Given the description of an element on the screen output the (x, y) to click on. 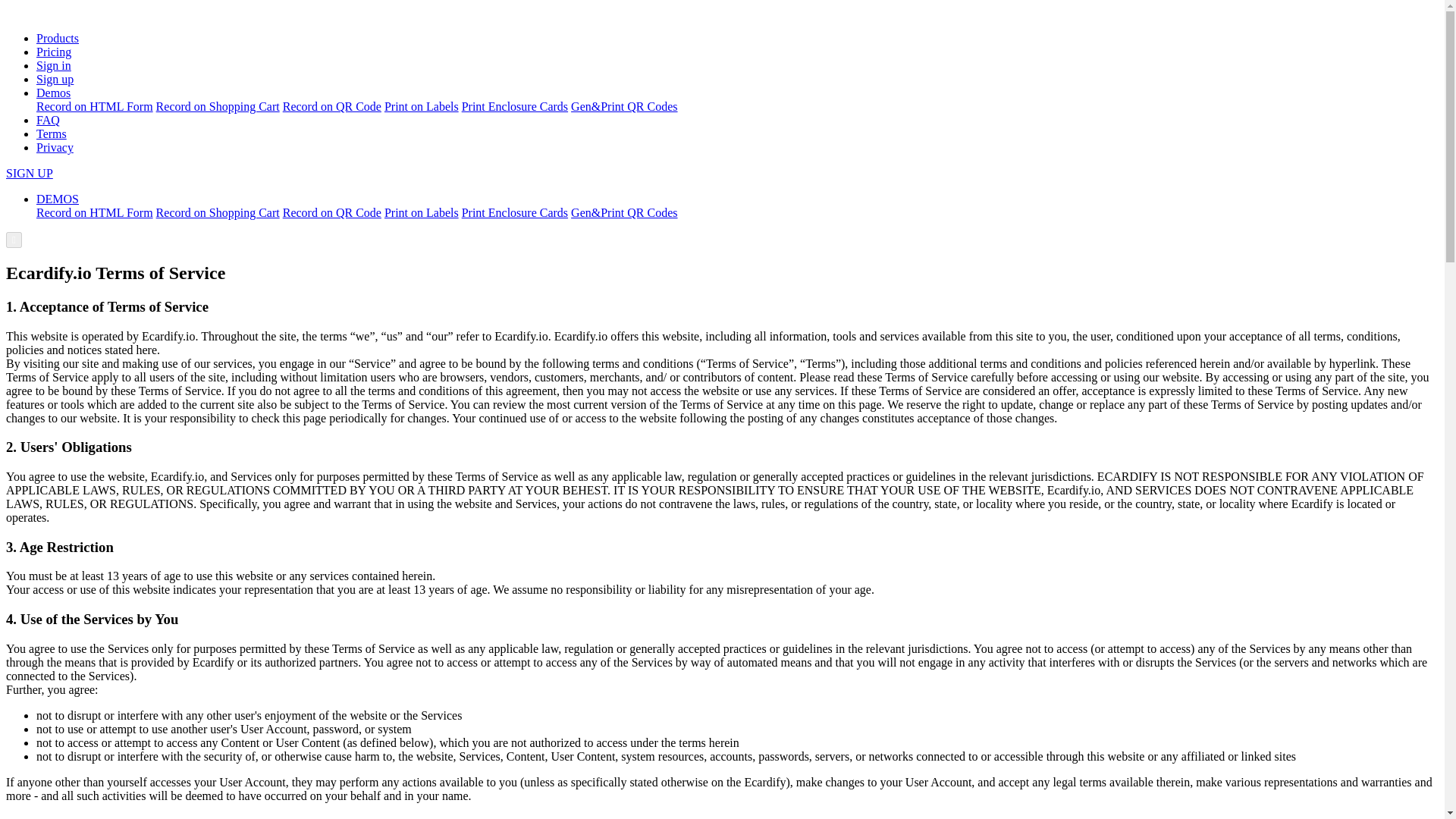
DEMOS (57, 198)
FAQ (47, 119)
Print on Labels (421, 106)
Sign up (55, 78)
Sign in (53, 65)
Record on Shopping Cart (217, 106)
Pricing (53, 51)
Record on QR Code (331, 106)
Demos (52, 92)
Print Enclosure Cards (514, 212)
Record on Shopping Cart (217, 212)
Privacy (55, 146)
Record on QR Code (331, 212)
Products (57, 38)
Record on HTML Form (94, 106)
